Given the description of an element on the screen output the (x, y) to click on. 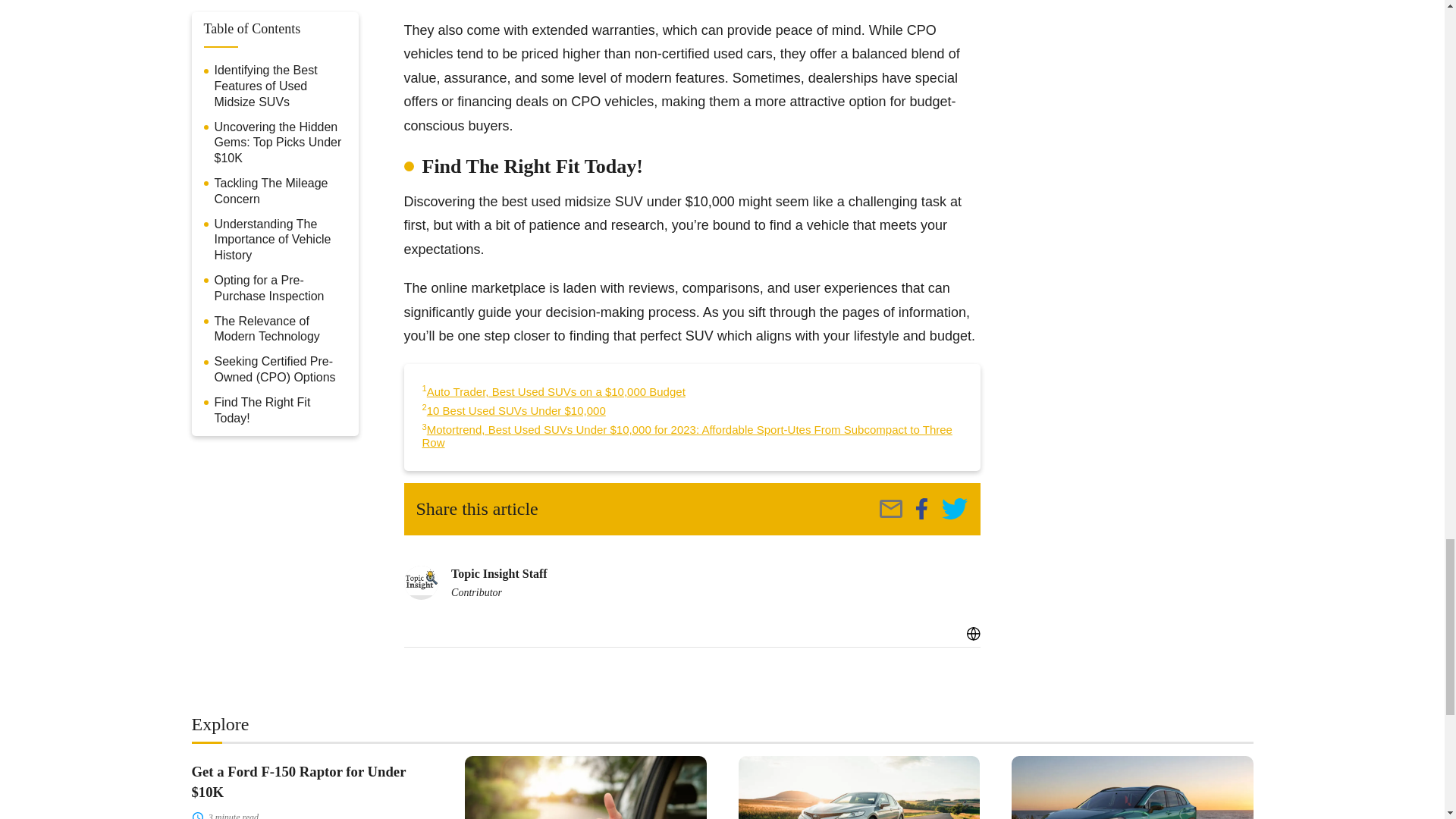
Share by Email (890, 508)
